Given the description of an element on the screen output the (x, y) to click on. 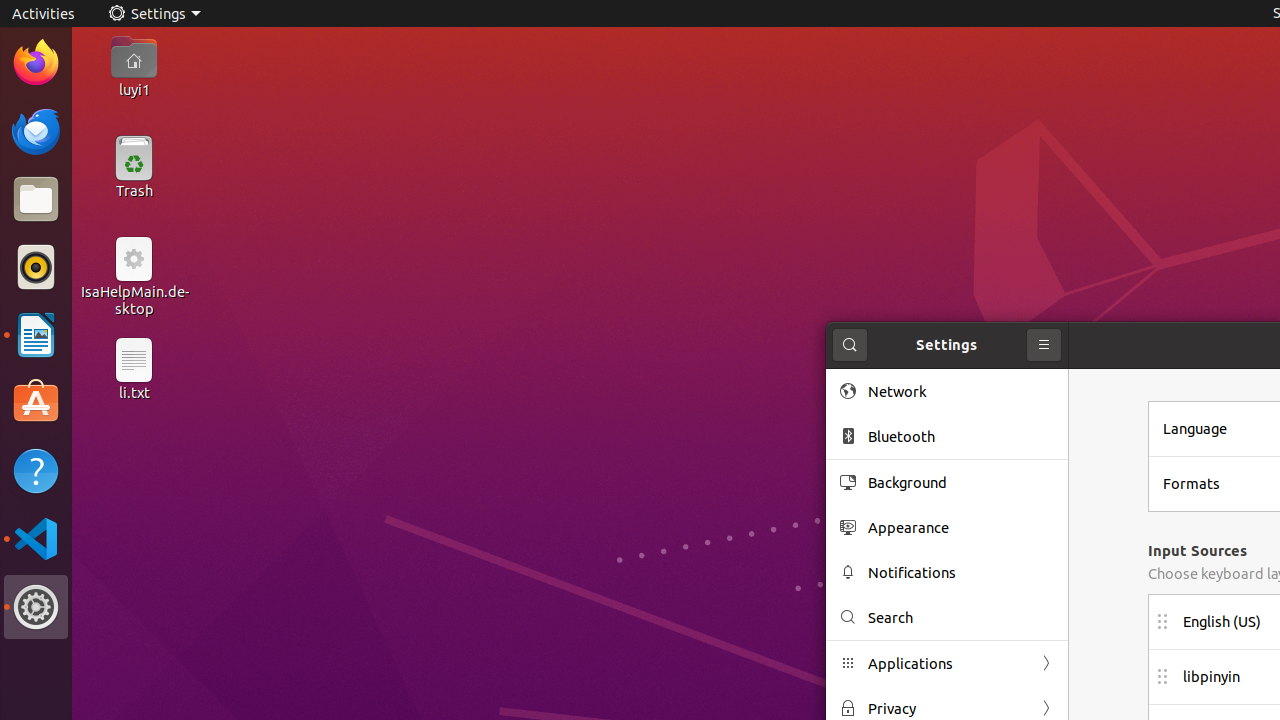
Search Element type: toggle-button (850, 345)
Background Element type: label (961, 482)
Bluetooth Element type: label (961, 436)
